Given the description of an element on the screen output the (x, y) to click on. 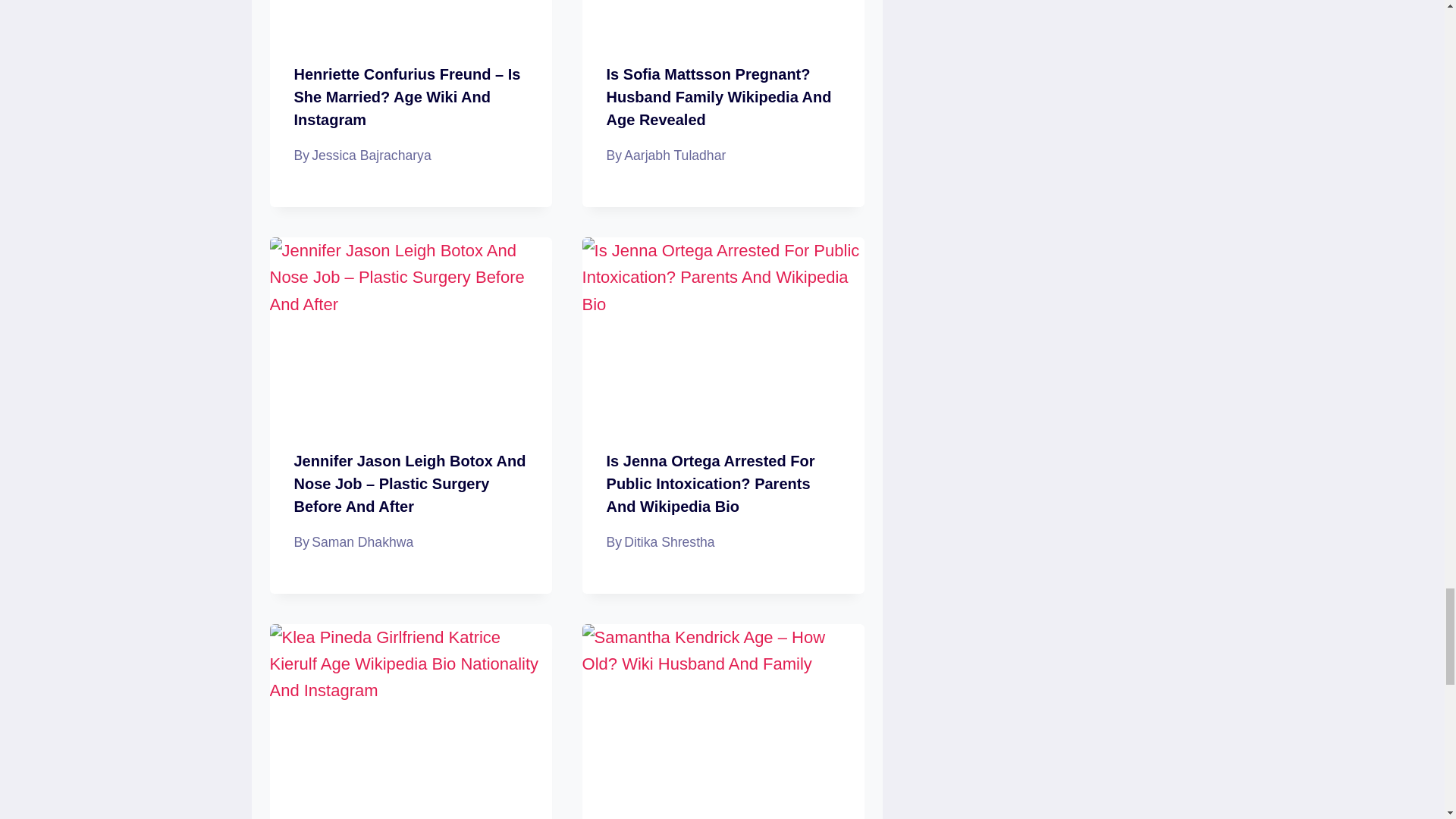
Jessica Bajracharya (370, 155)
Aarjabh Tuladhar (674, 155)
